Given the description of an element on the screen output the (x, y) to click on. 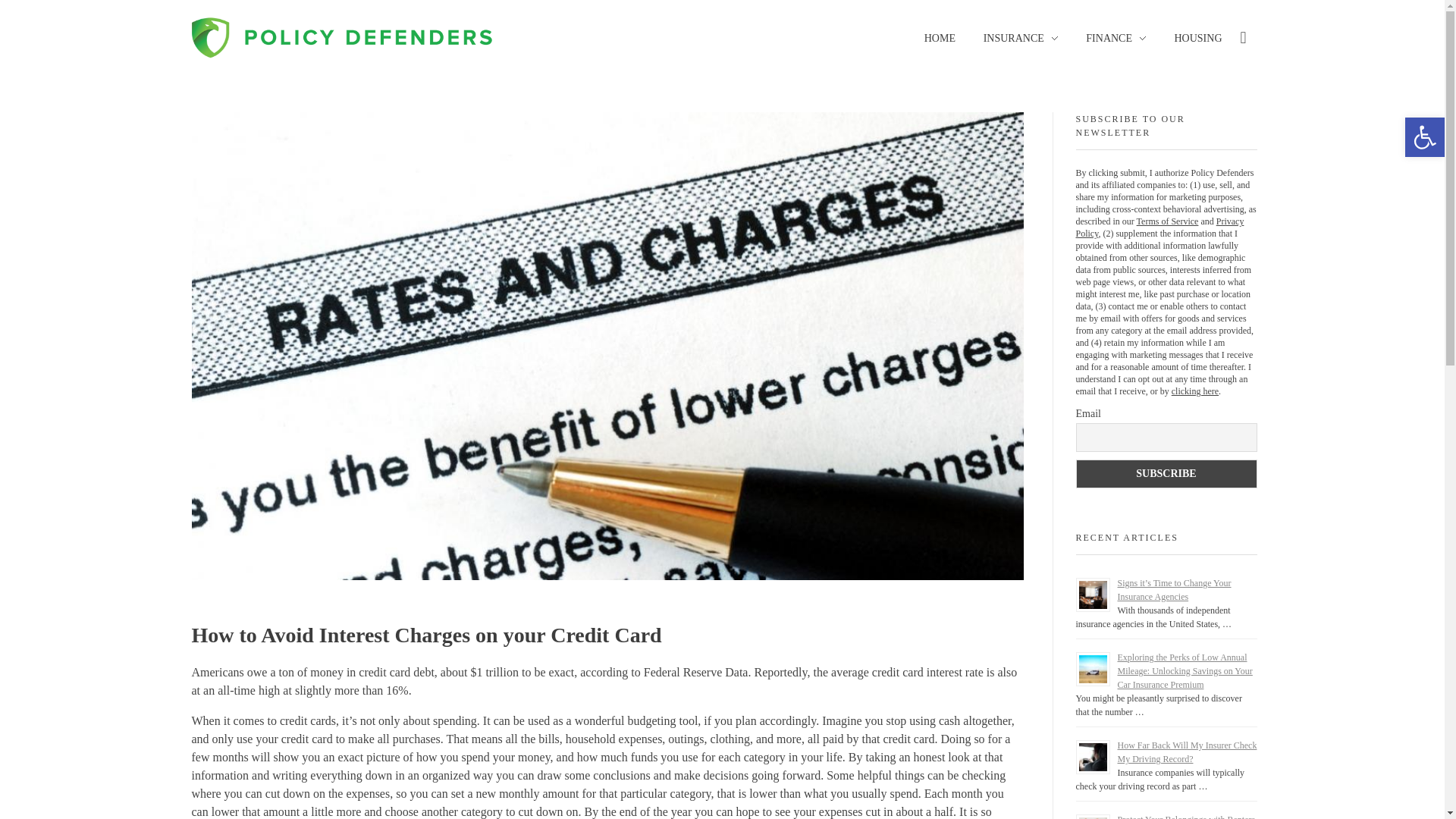
clicking here (1195, 390)
Privacy Policy (1159, 227)
Terms of Service (1167, 221)
FINANCE (1115, 38)
HOME (946, 38)
How Far Back Will My Insurer Check My Driving Record? (1187, 752)
HOUSING (1190, 38)
Subscribe (1165, 473)
Subscribe (1165, 473)
Accessibility Tools (1424, 137)
INSURANCE (1020, 38)
